Given the description of an element on the screen output the (x, y) to click on. 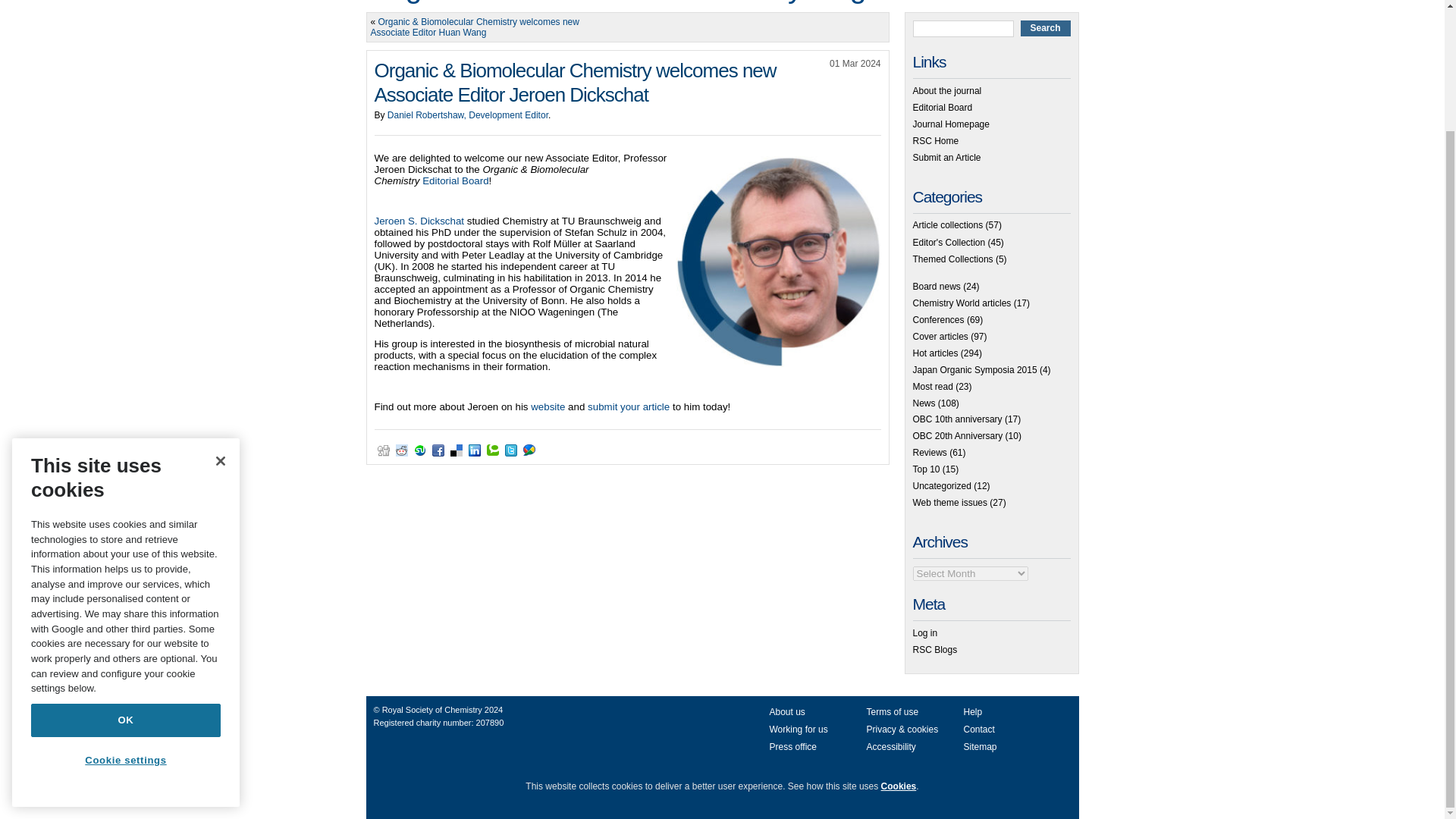
Daniel Robertshaw, Development Editor (467, 114)
Search (1045, 28)
Chemistry World articles (961, 303)
News (924, 403)
Share on Facebook (438, 450)
Posts by Daniel Robertshaw, Development Editor (467, 114)
Themed Collections (952, 258)
Post on Twitter (510, 450)
Search (1045, 28)
RSC Blogs (935, 649)
